Given the description of an element on the screen output the (x, y) to click on. 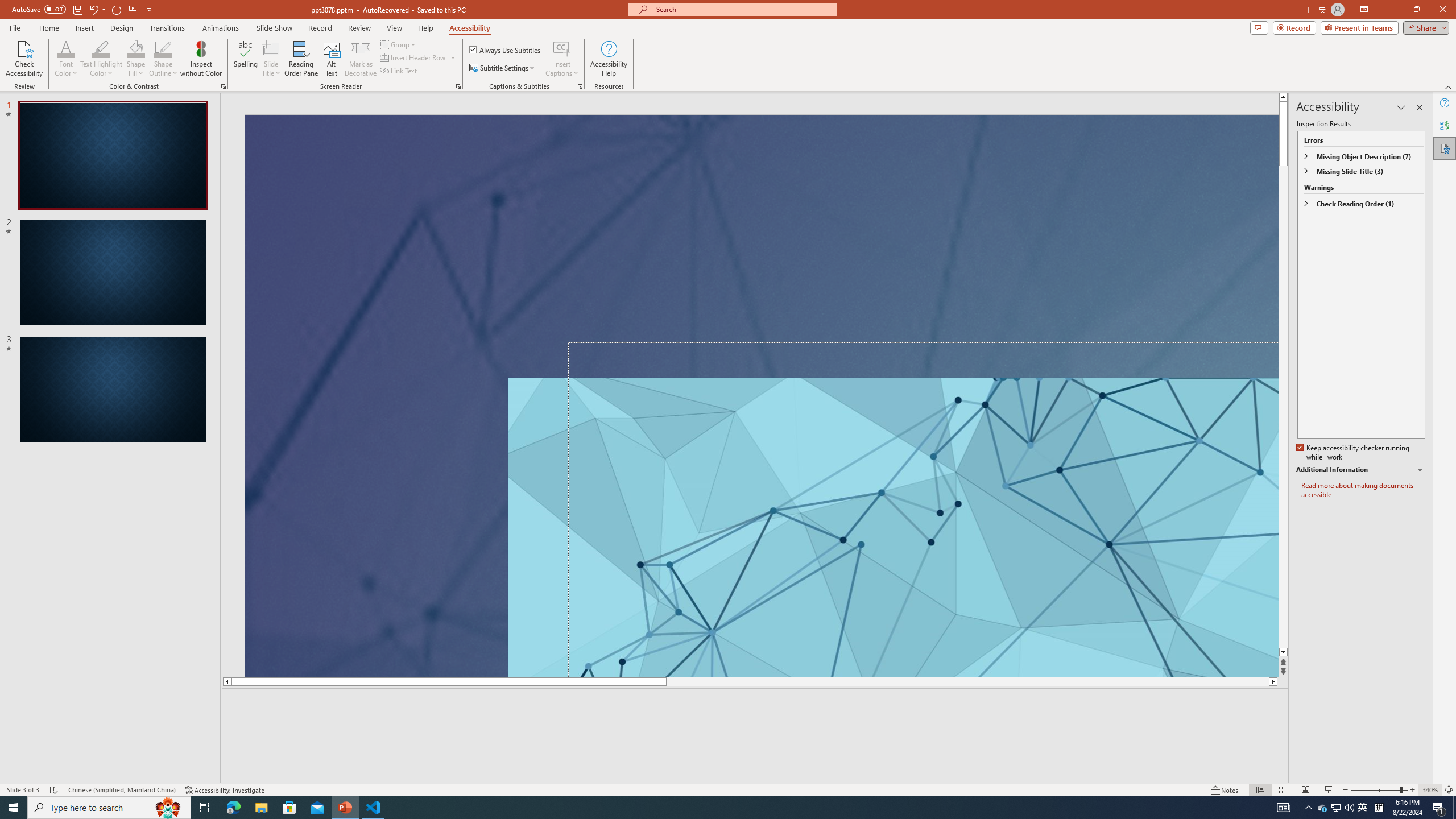
Insert Header Row (413, 56)
Title TextBox (922, 509)
Insert Captions (561, 58)
Link Text (399, 69)
Slide Title (271, 48)
